Given the description of an element on the screen output the (x, y) to click on. 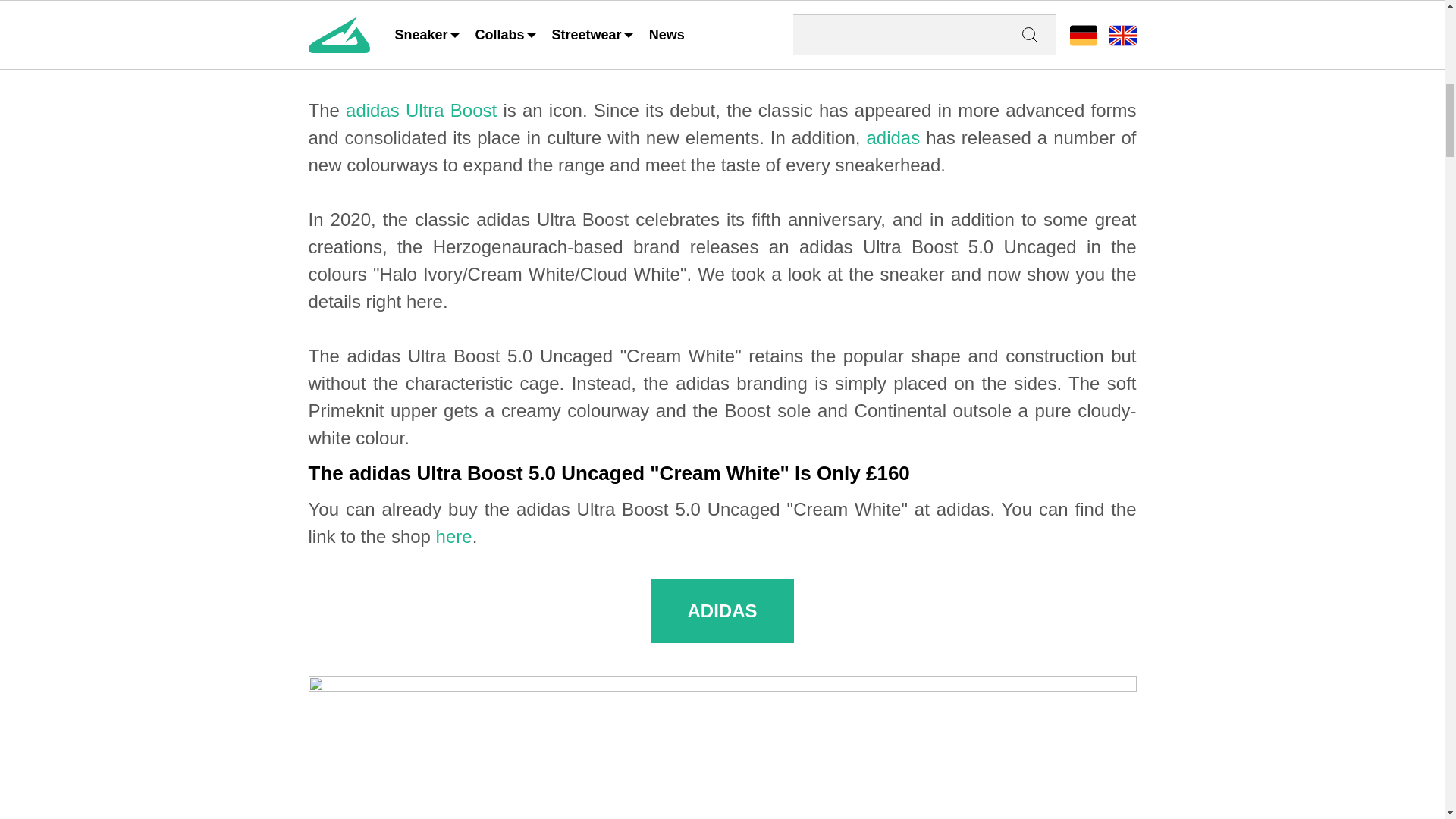
ADIDAS (721, 35)
adidas (893, 137)
ADIDAS (721, 610)
adidas Ultra Boost (421, 109)
here (453, 536)
